Given the description of an element on the screen output the (x, y) to click on. 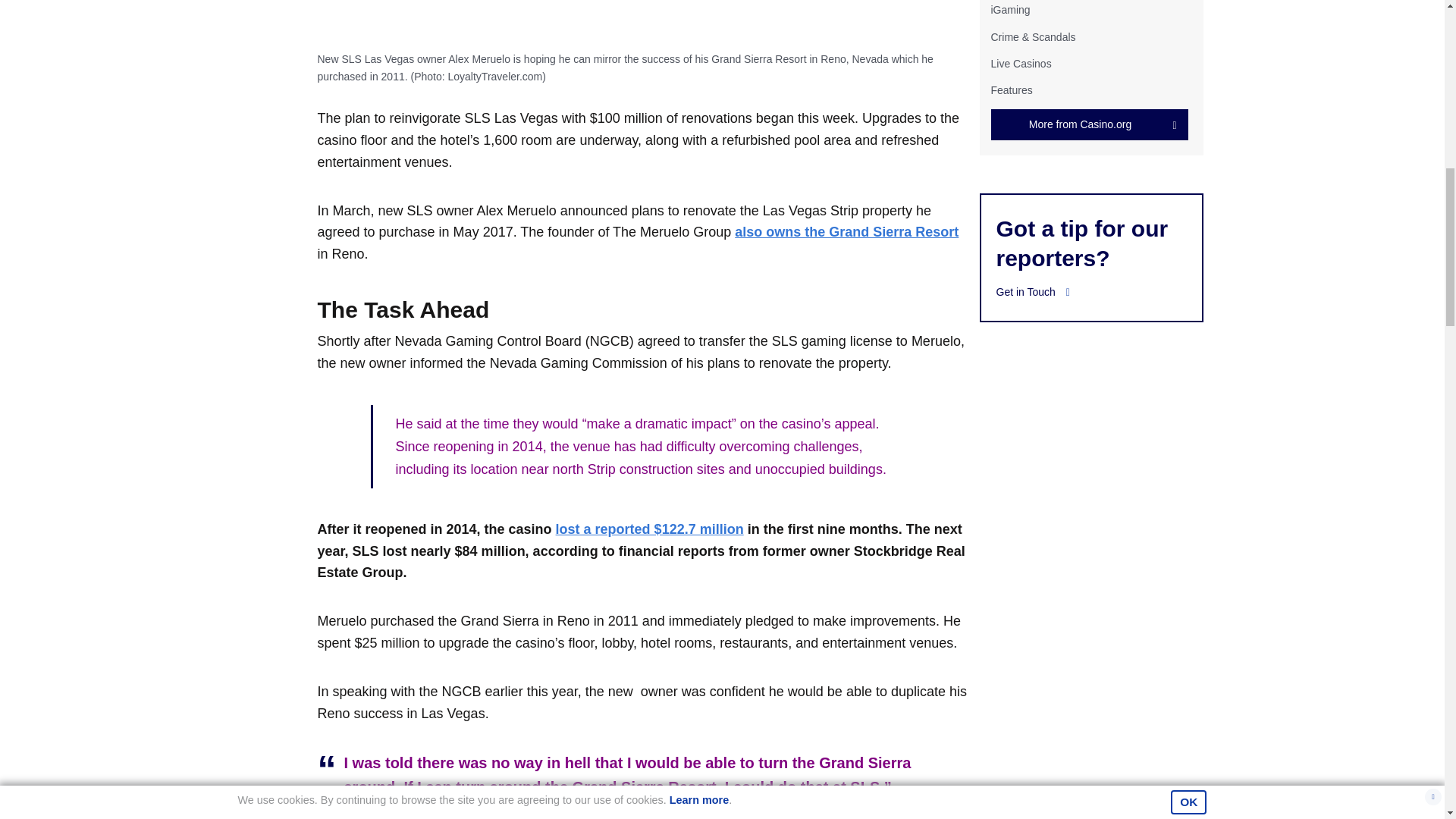
Features (1011, 90)
iGaming (1009, 9)
also owns the Grand Sierra Resort (846, 231)
Live Casinos (1020, 63)
